Given the description of an element on the screen output the (x, y) to click on. 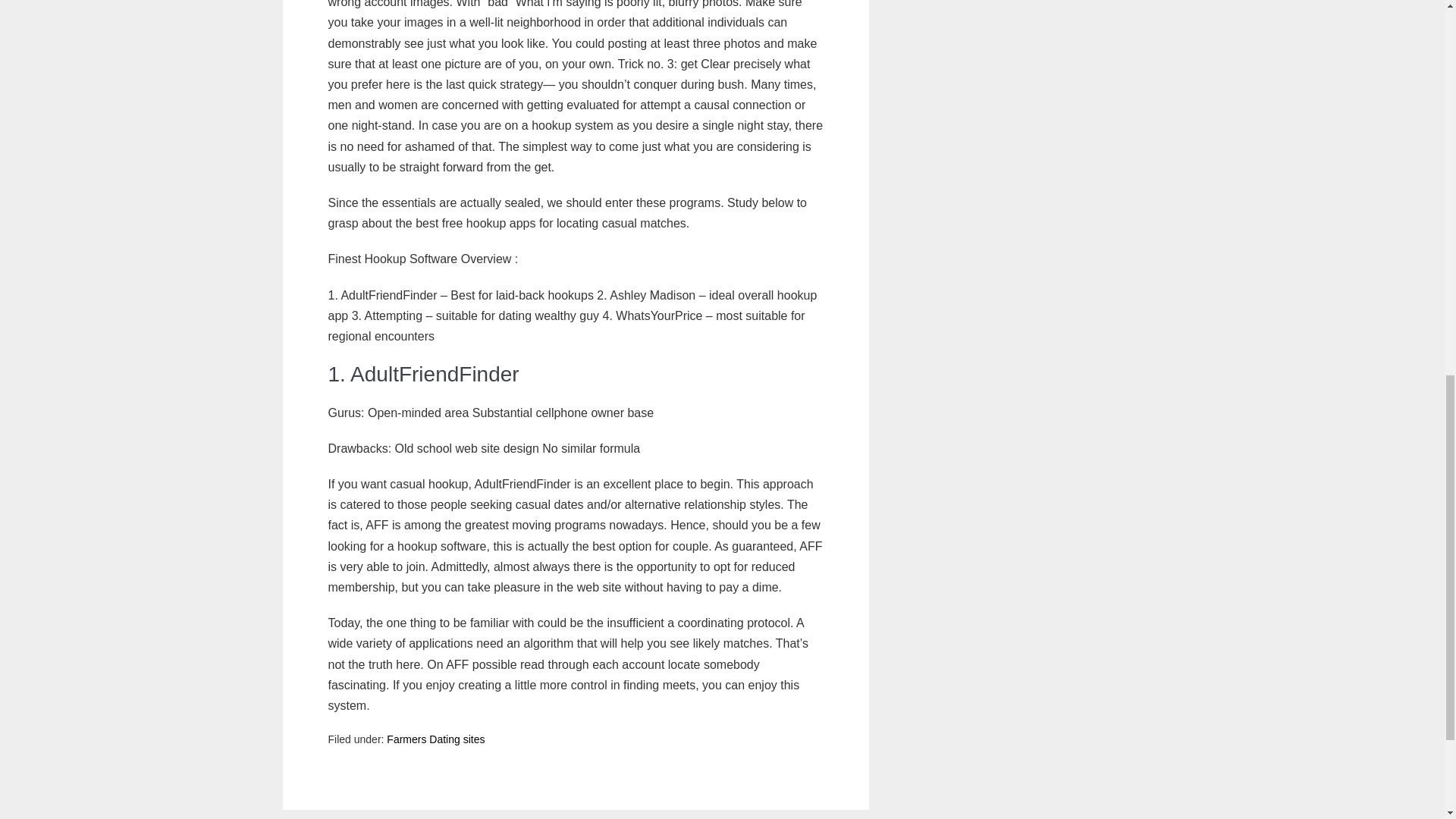
Farmers Dating sites (435, 739)
